Given the description of an element on the screen output the (x, y) to click on. 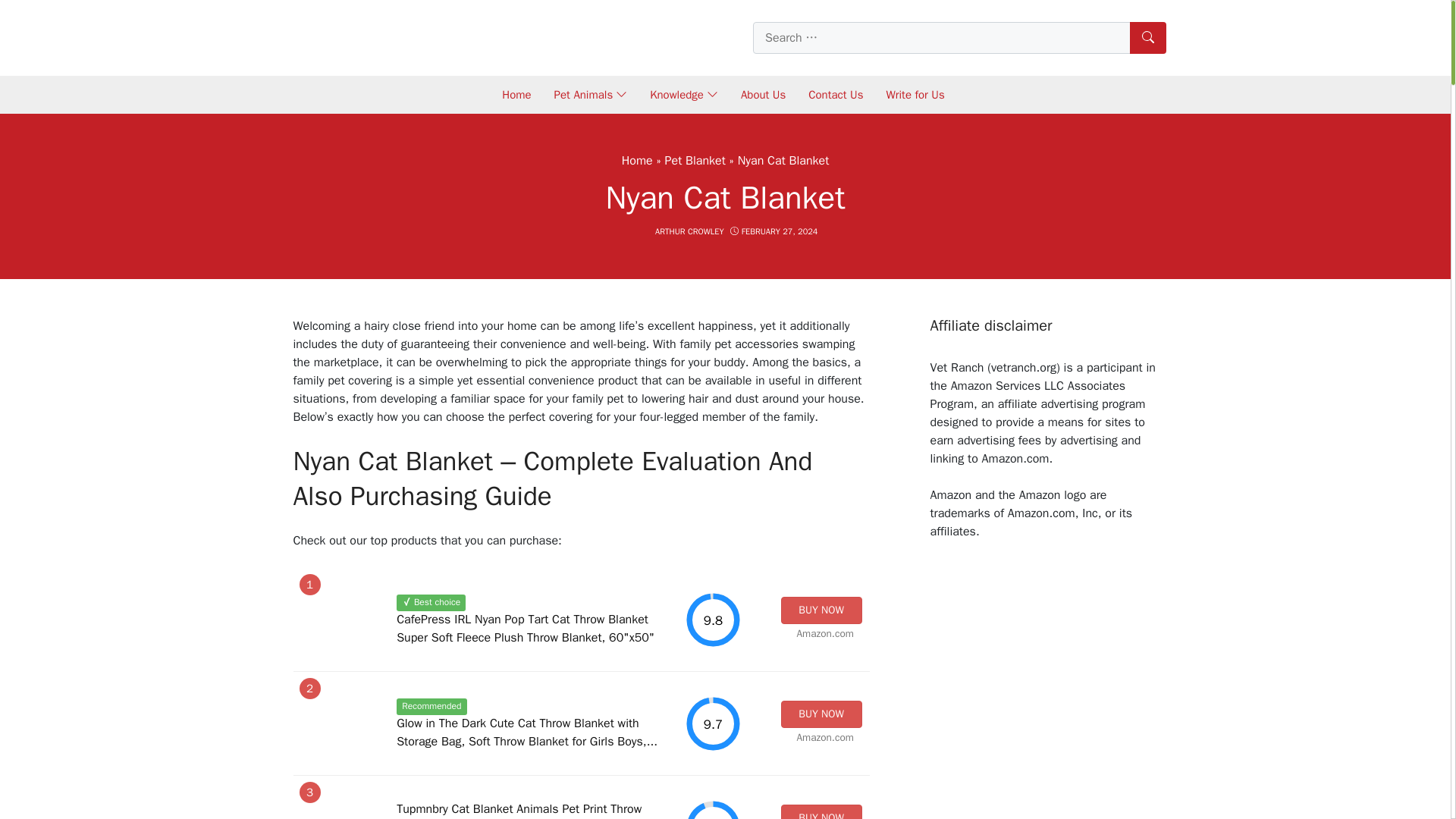
View all posts by Arthur Crowley (689, 231)
9.7 (712, 723)
Vet Ranch (386, 37)
Search for: (959, 38)
Vet Ranch (386, 37)
9.8 (712, 619)
9.4 (712, 809)
Pet Animals (590, 94)
